Given the description of an element on the screen output the (x, y) to click on. 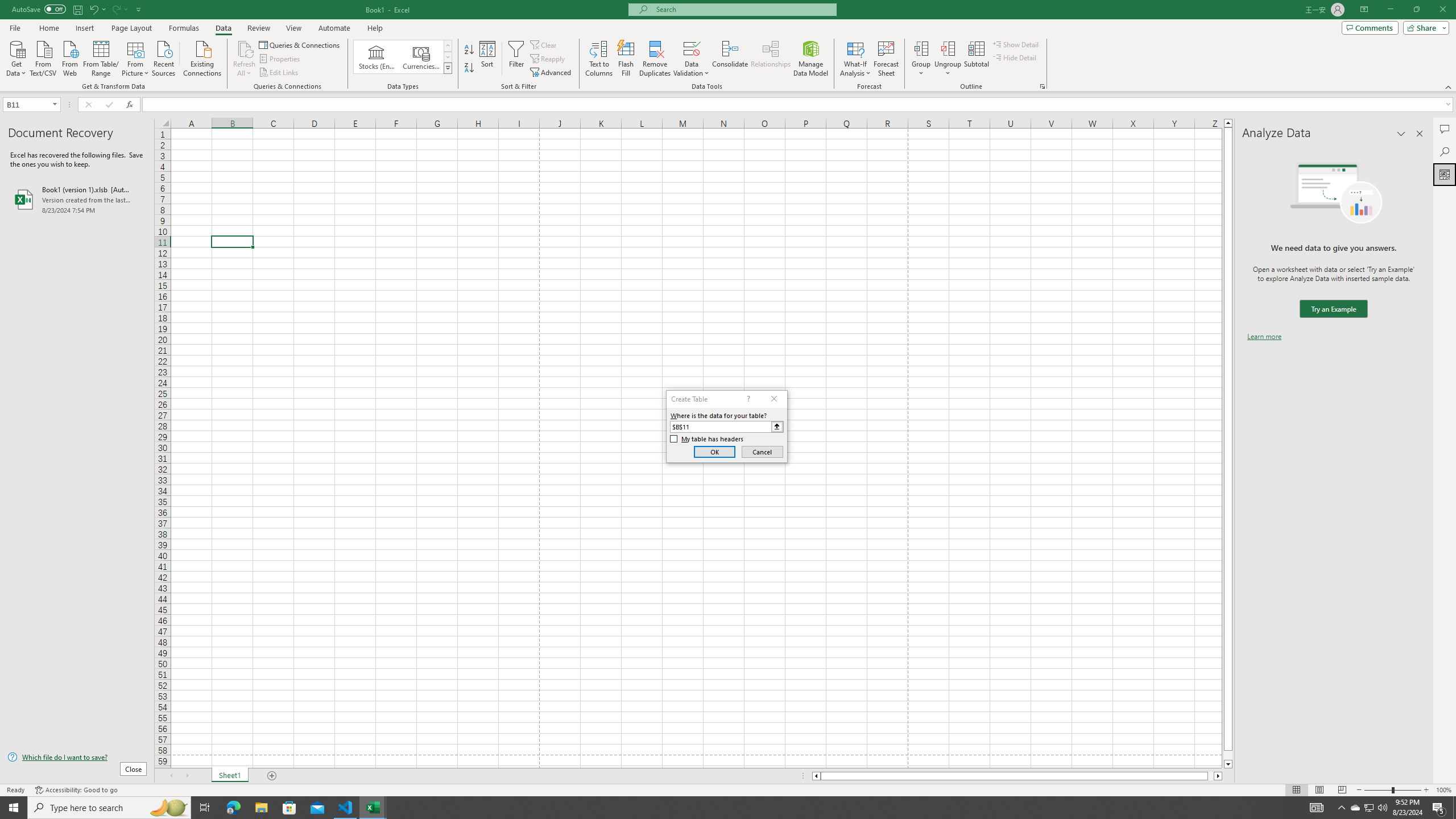
Row up (448, 45)
Get Data (16, 57)
Page right (1211, 775)
View (293, 28)
Undo (96, 9)
Accessibility Checker Accessibility: Good to go (76, 790)
Data Types (448, 67)
Insert (83, 28)
Analyze Data (1444, 173)
Collapse the Ribbon (1448, 86)
Automate (334, 28)
Normal (1296, 790)
File Tab (15, 27)
Learn more (1264, 336)
